Given the description of an element on the screen output the (x, y) to click on. 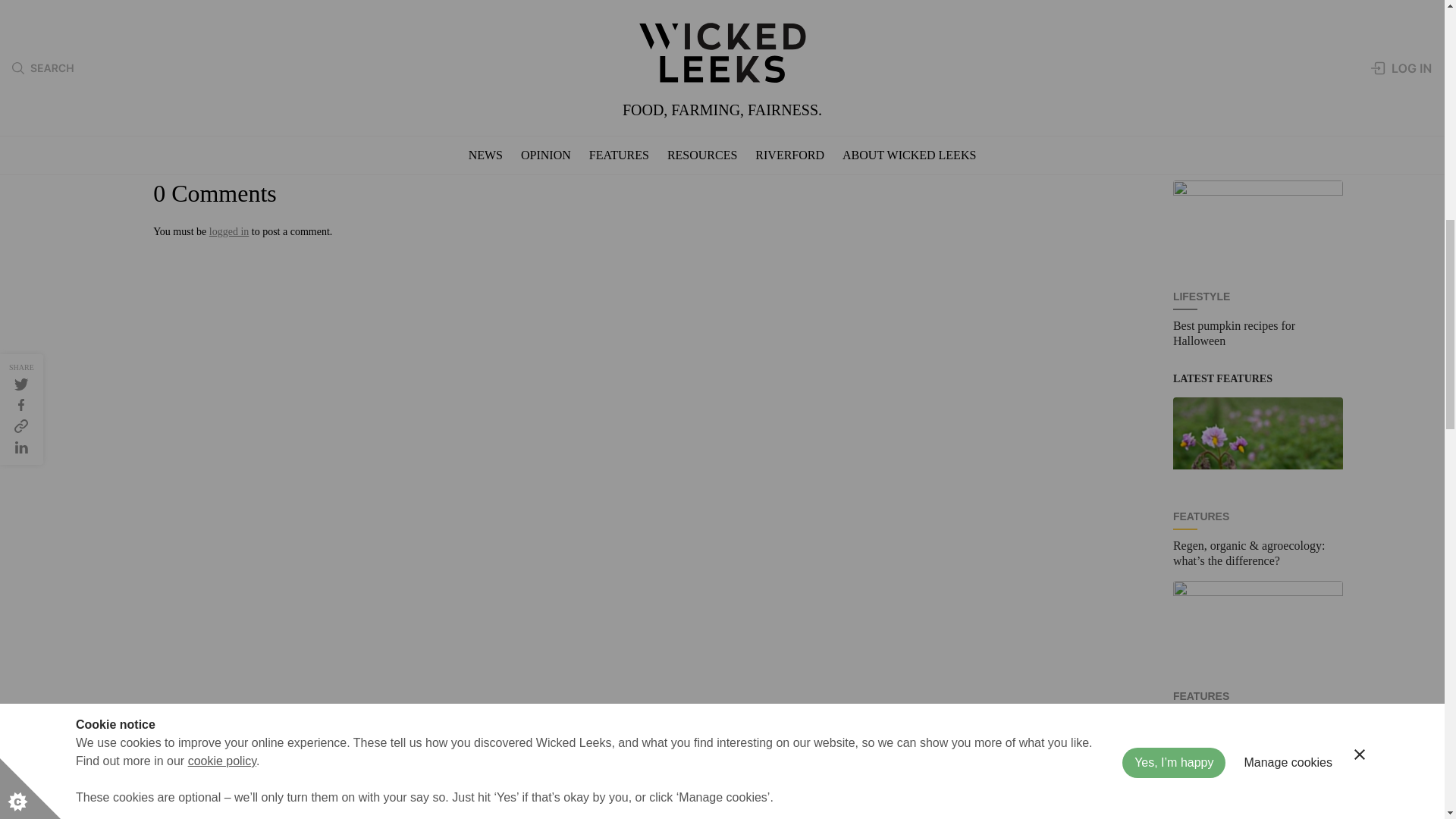
cookie policy (221, 20)
Manage cookies (1287, 8)
